Given the description of an element on the screen output the (x, y) to click on. 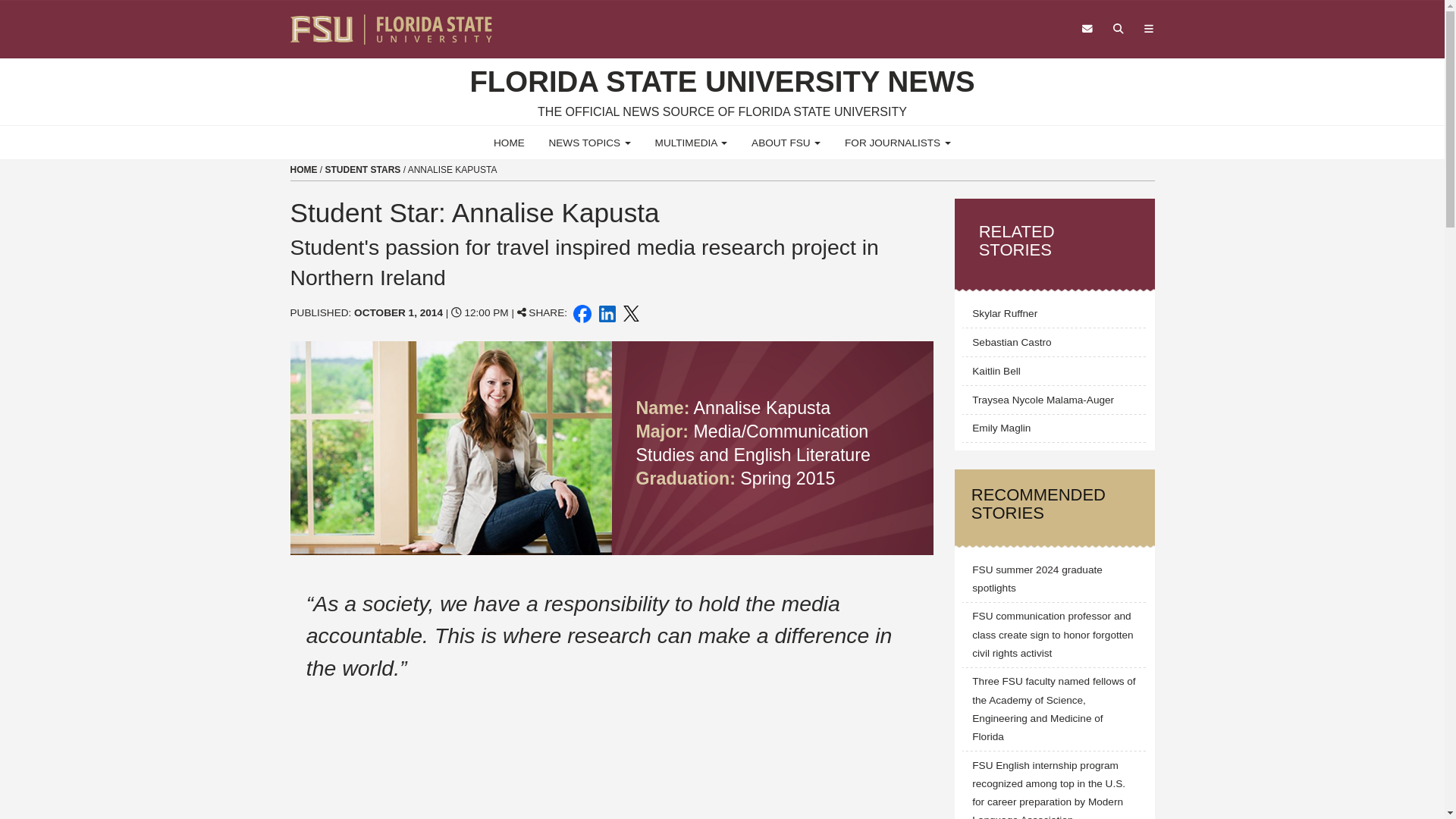
FSU Webmail (1087, 28)
Navigation (1148, 28)
